Given the description of an element on the screen output the (x, y) to click on. 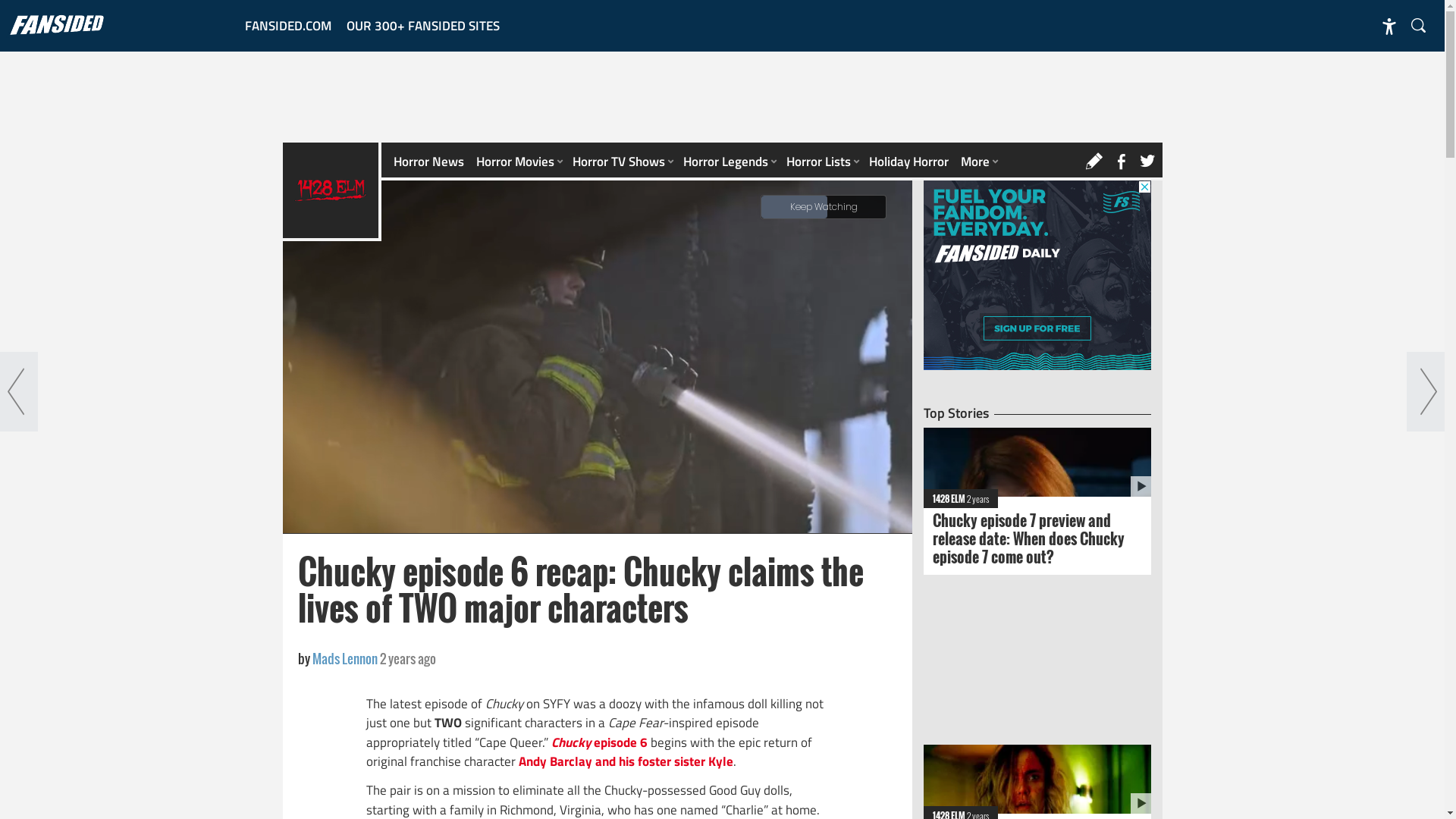
Horror TV Shows Element type: text (620, 161)
Andy Barclay and his foster sister Kyle Element type: text (625, 761)
Write for us Element type: text (1098, 162)
Chucky episode 6 Element type: text (598, 742)
Horror Lists Element type: text (820, 161)
FANSIDED.COM Element type: text (287, 25)
3rd party ad content Element type: hover (1037, 275)
Horror News Element type: text (427, 161)
Facebook Element type: text (1124, 162)
OUR 300+ FANSIDED SITES Element type: text (422, 25)
Twitter Element type: text (1150, 162)
Horror Movies Element type: text (518, 161)
Holiday Horror Element type: text (908, 161)
Mads Lennon Element type: text (345, 658)
Horror Legends Element type: text (727, 161)
More Element type: text (977, 161)
